Given the description of an element on the screen output the (x, y) to click on. 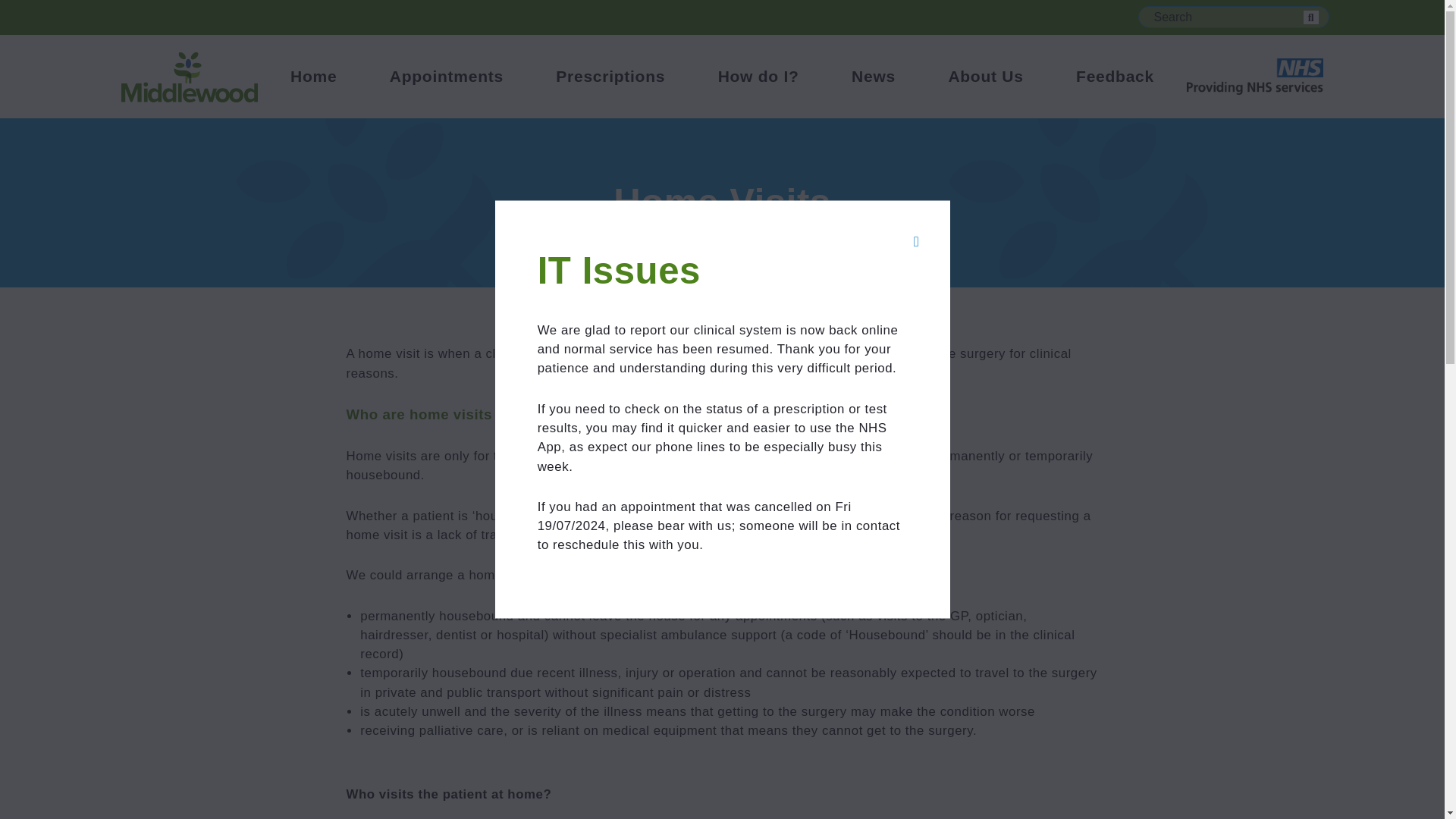
News (873, 76)
How do I? (758, 76)
Appointments (446, 76)
Search (1311, 17)
Feedback (1114, 76)
About Us (985, 76)
Home (312, 76)
Prescriptions (610, 76)
Close modal (916, 241)
